Given the description of an element on the screen output the (x, y) to click on. 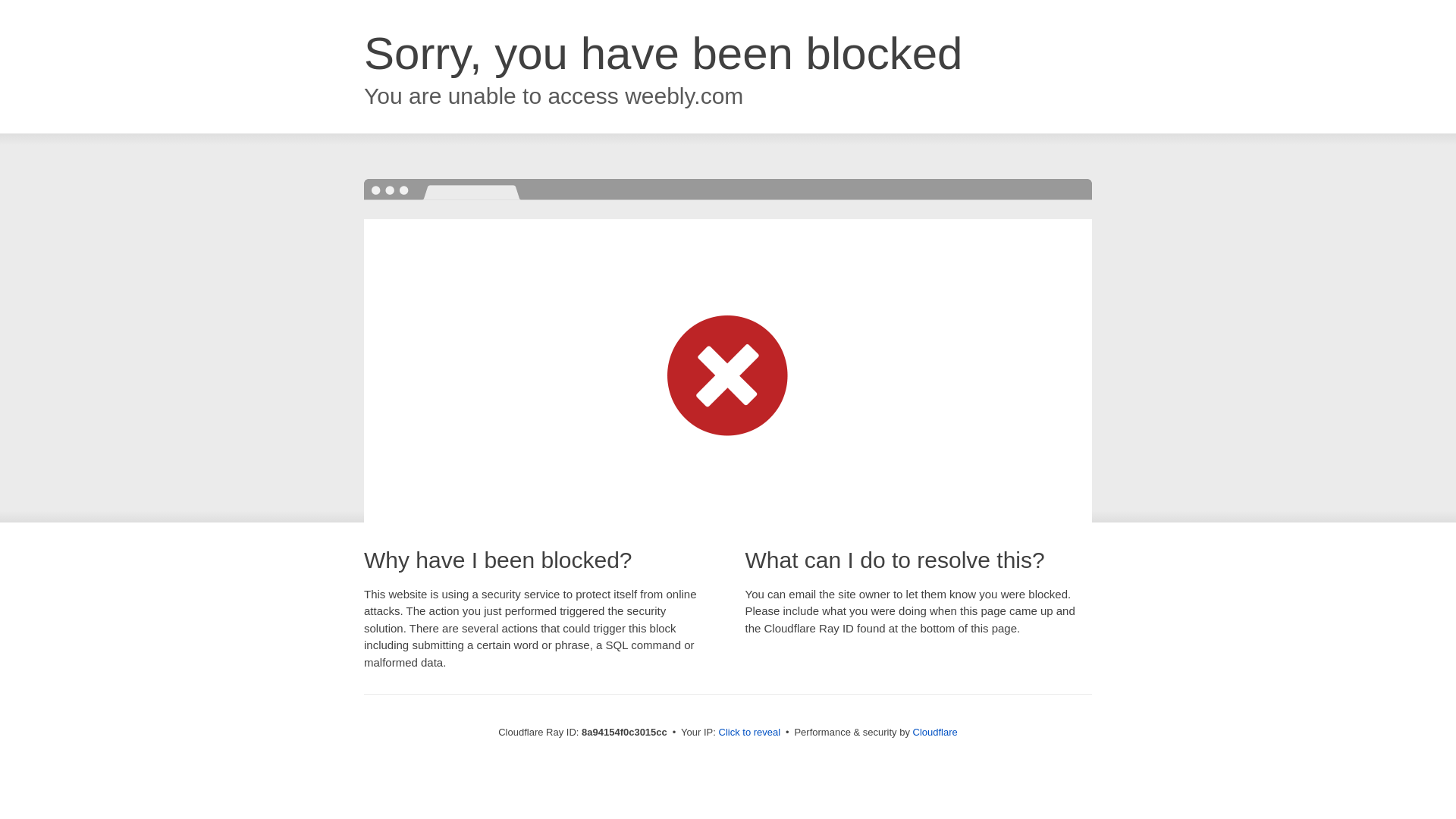
Click to reveal (749, 732)
Cloudflare (935, 731)
